Given the description of an element on the screen output the (x, y) to click on. 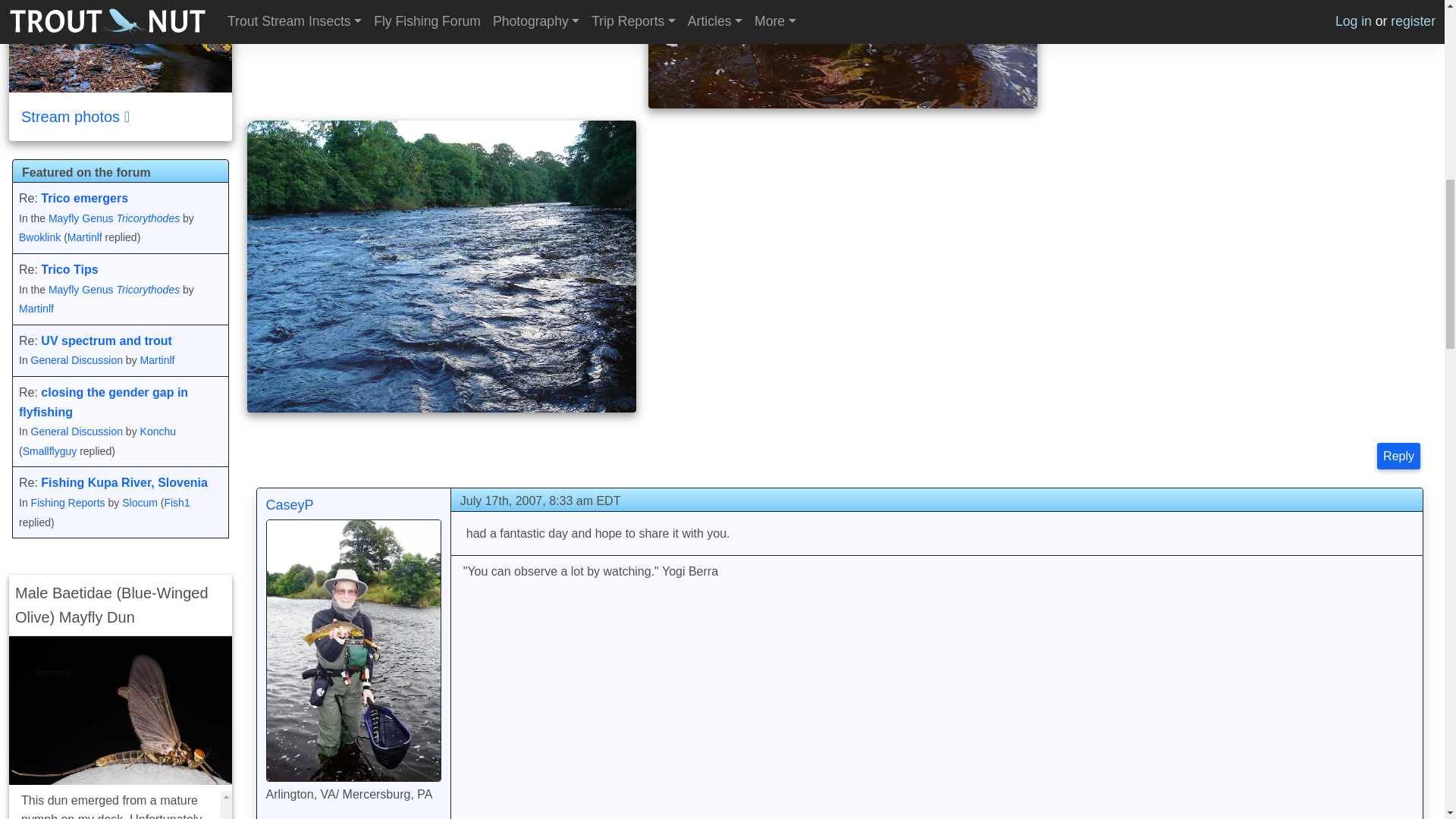
Fast, deep, and dark--and loaded with fish! (441, 266)
View CaseyP's Profile or Send Private Message (288, 504)
Sixmile Creek in New York (119, 46)
